Given the description of an element on the screen output the (x, y) to click on. 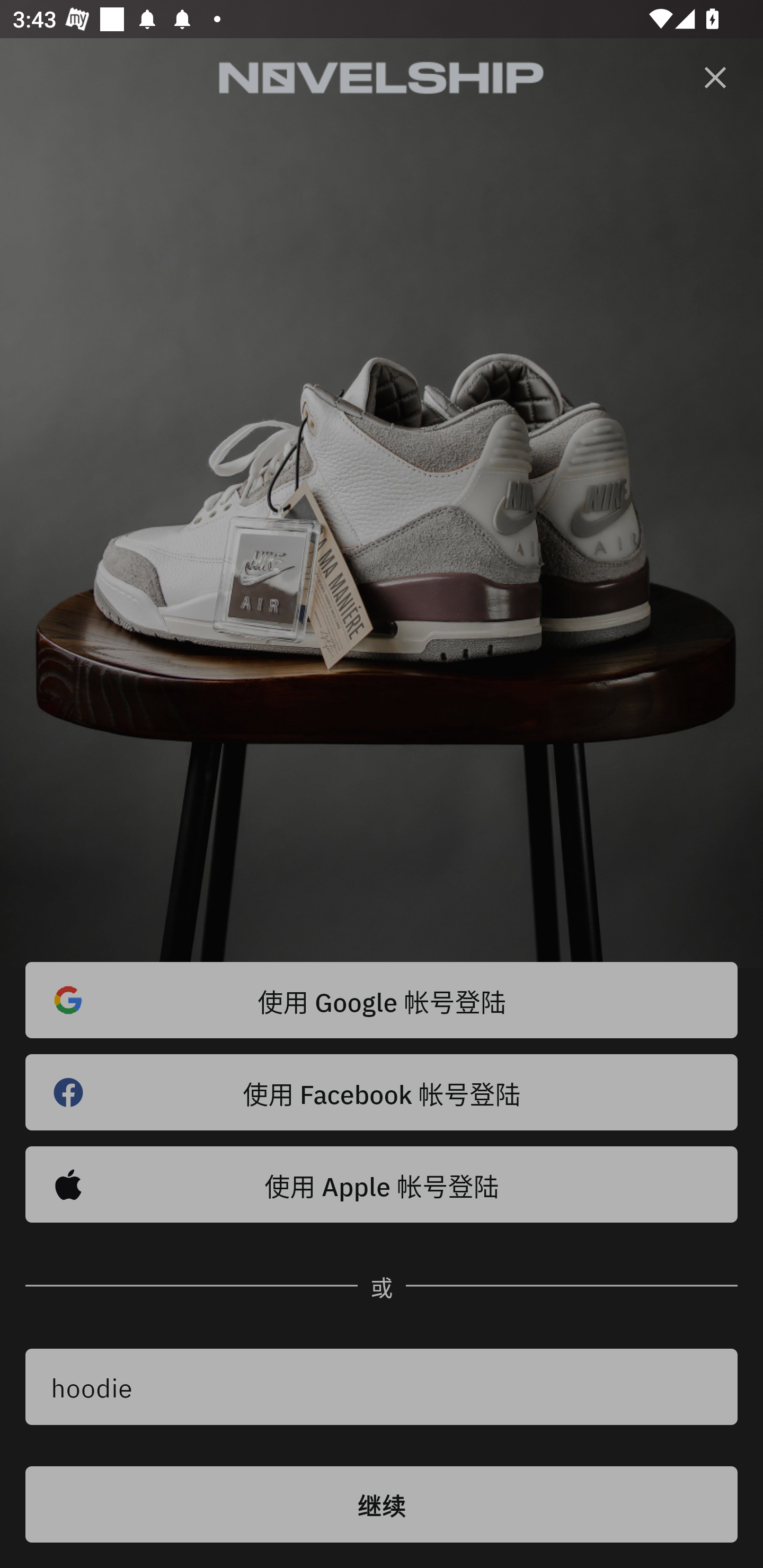
使用 Google 帐号登陆 (381, 1000)
使用 Facebook 帐号登陆 󰈌 (381, 1091)
 使用 Apple 帐号登陆 (381, 1184)
hoodie (381, 1386)
继续 (381, 1504)
